Given the description of an element on the screen output the (x, y) to click on. 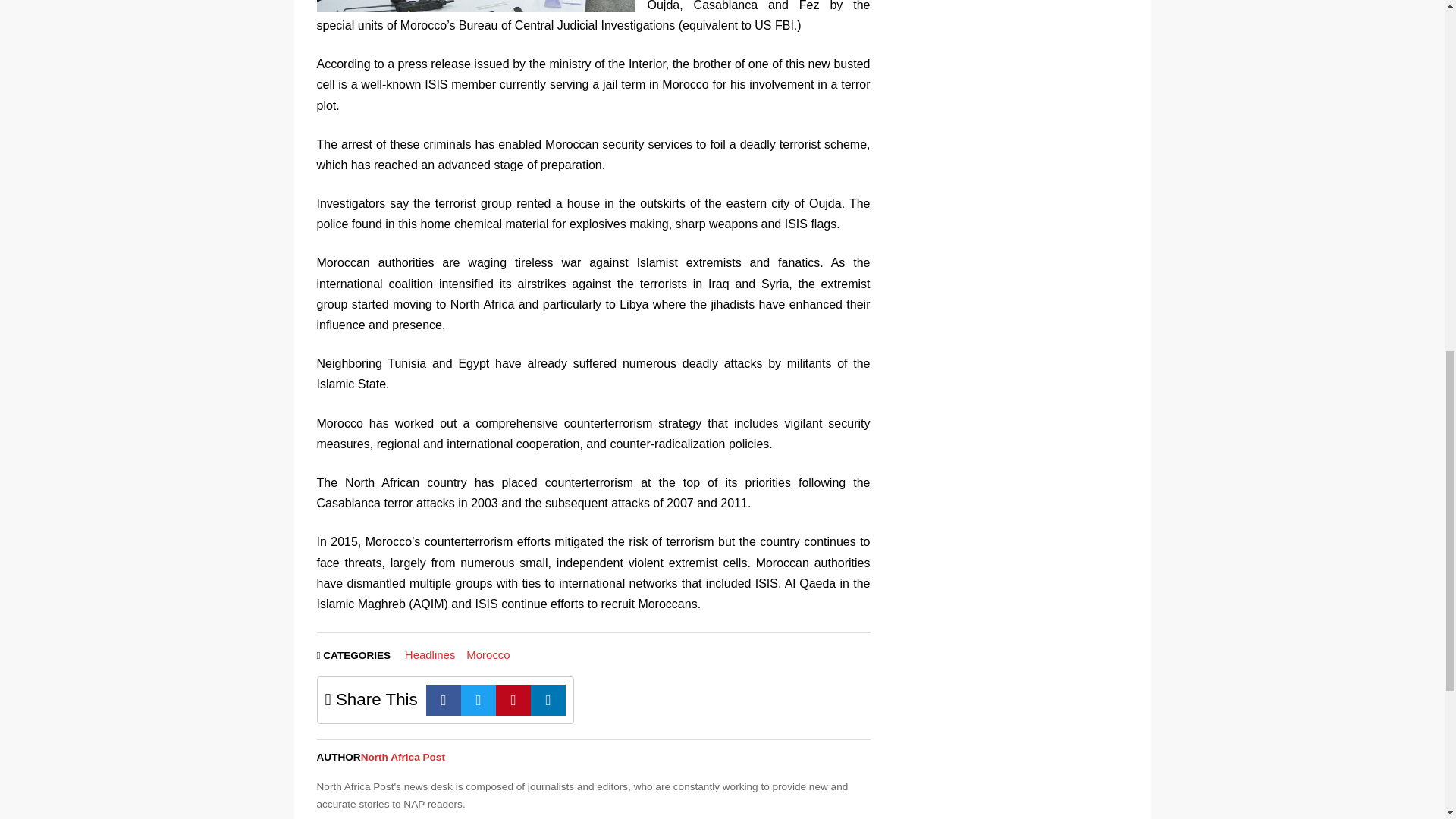
Linkedin (548, 699)
Twitter (478, 699)
Facebook (443, 699)
Pinterest (513, 699)
